Given the description of an element on the screen output the (x, y) to click on. 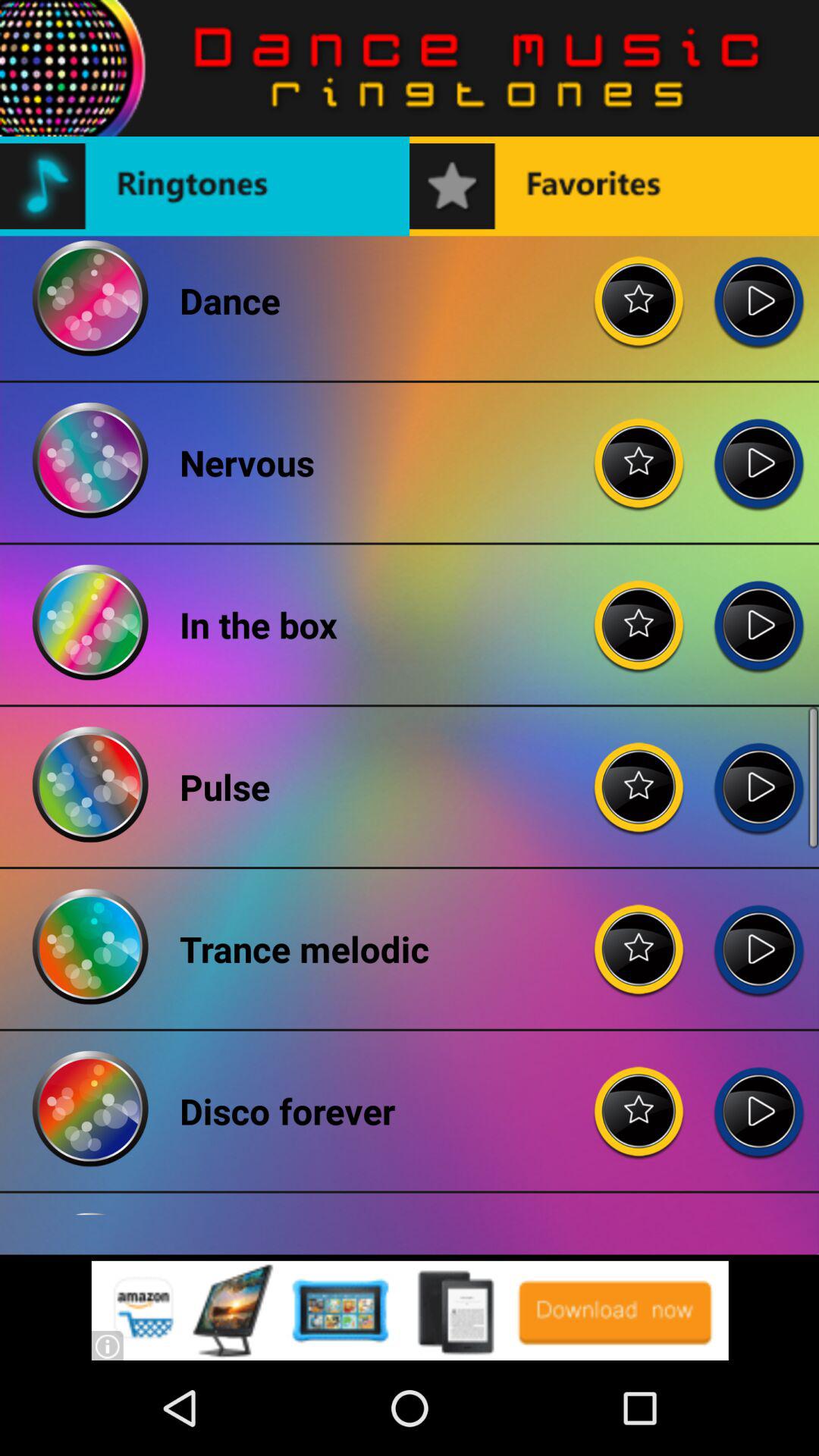
rating (639, 451)
